Given the description of an element on the screen output the (x, y) to click on. 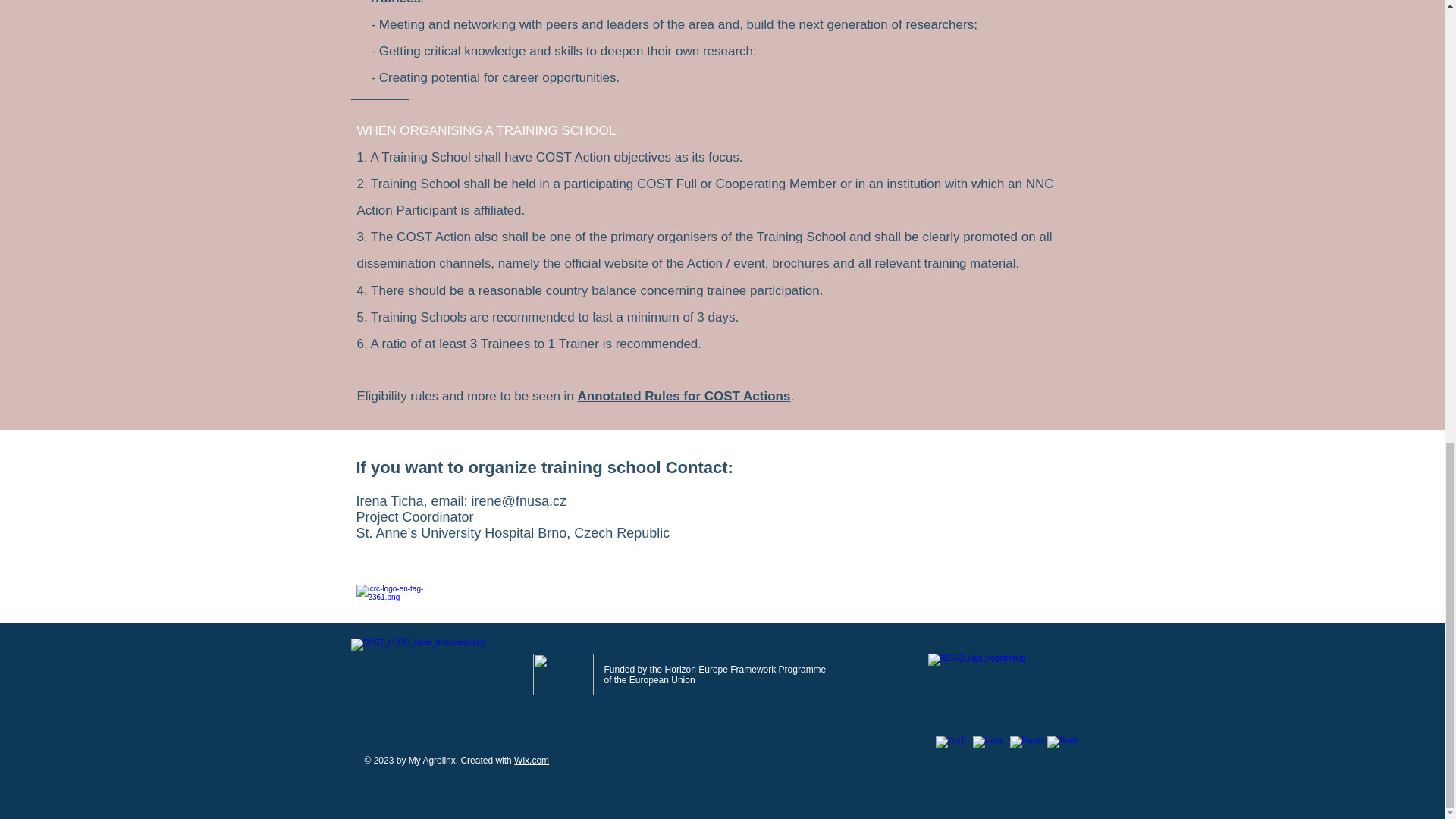
Annotated Rules for COST Actions (684, 396)
Wix.com (530, 760)
cost logo grey.jpg (425, 674)
